Given the description of an element on the screen output the (x, y) to click on. 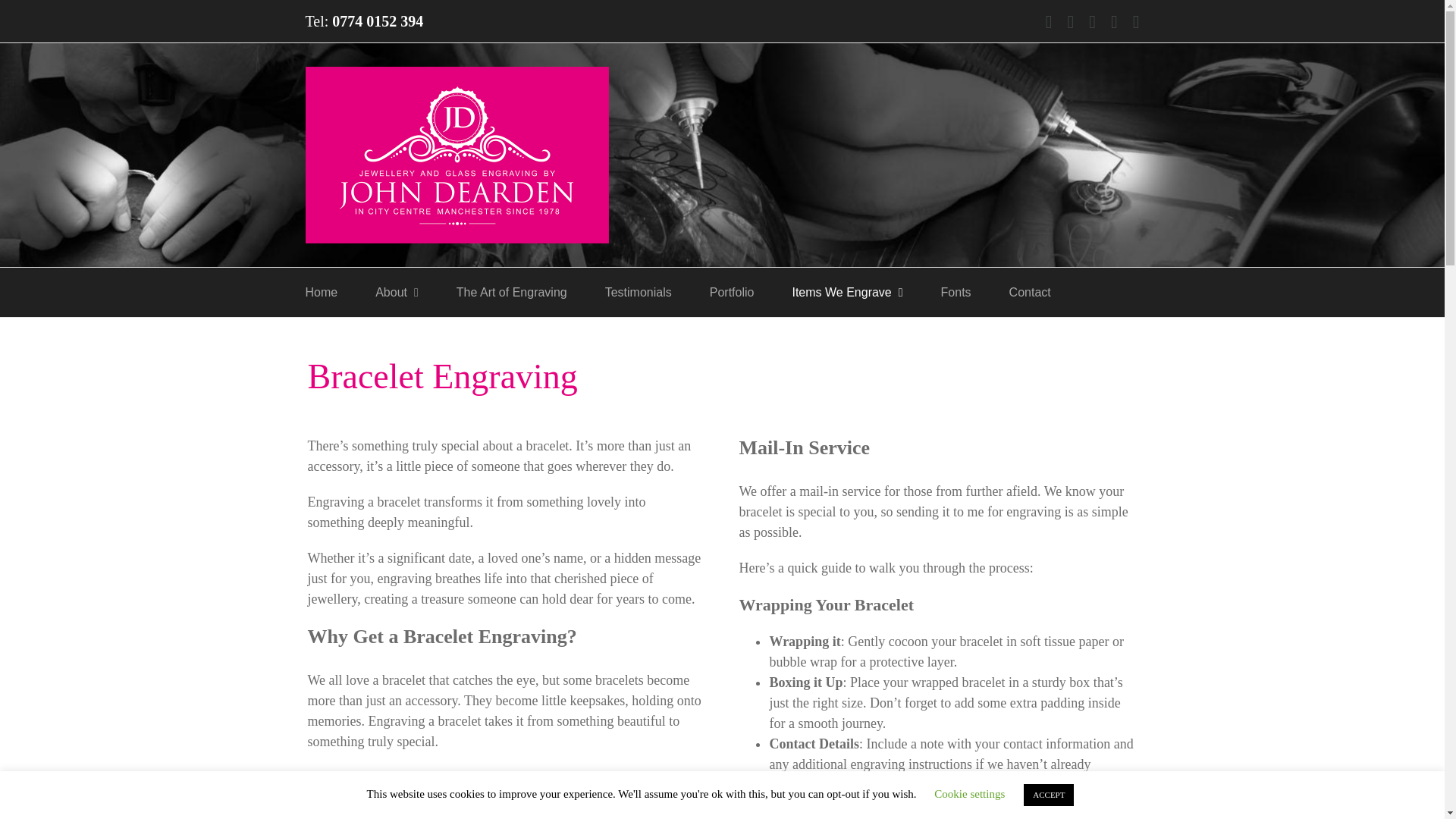
Portfolio (732, 291)
The Art of Engraving (512, 291)
Testimonials (638, 291)
Items We Engrave (847, 291)
